Given the description of an element on the screen output the (x, y) to click on. 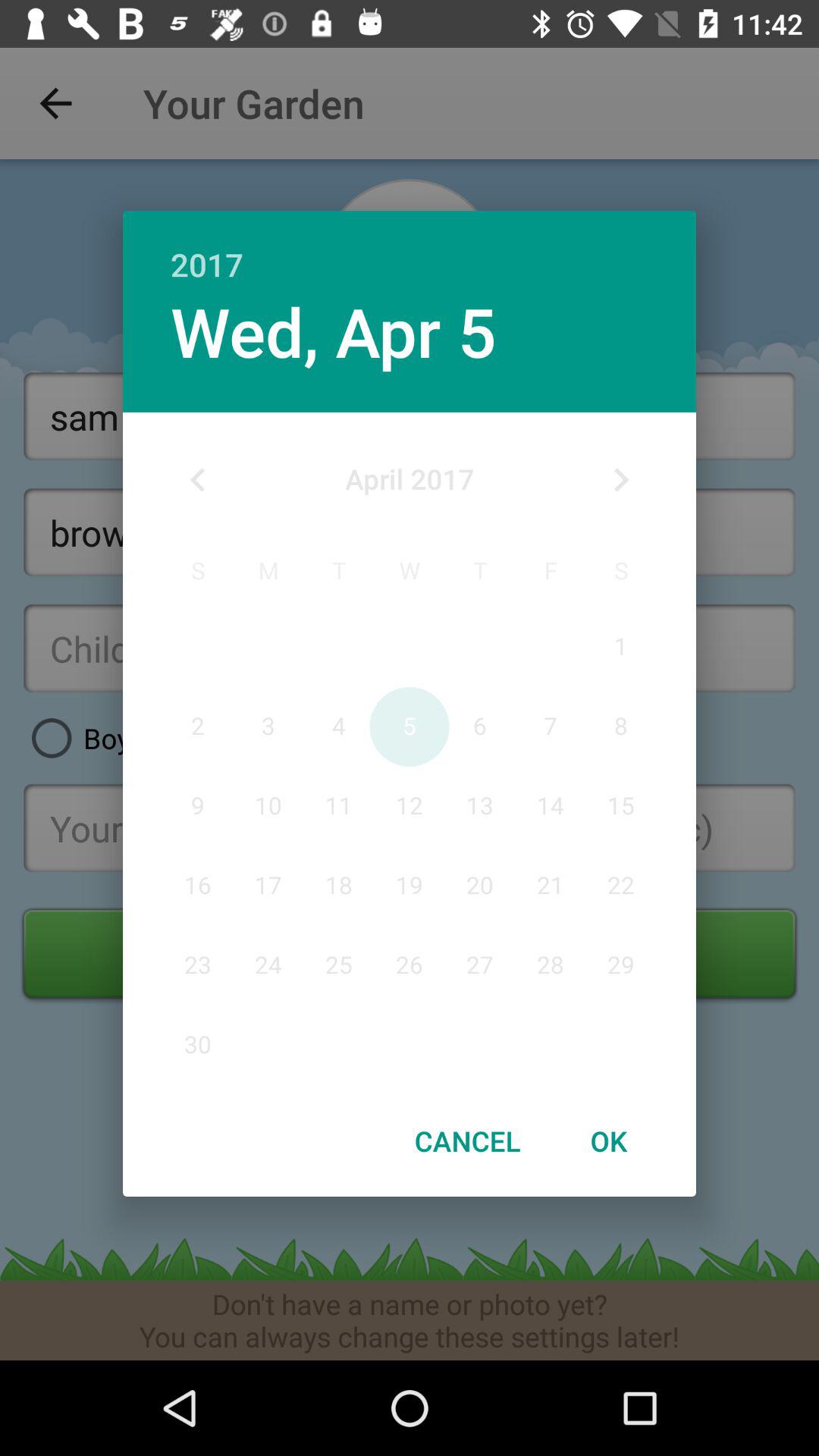
tap the item next to ok item (467, 1140)
